Given the description of an element on the screen output the (x, y) to click on. 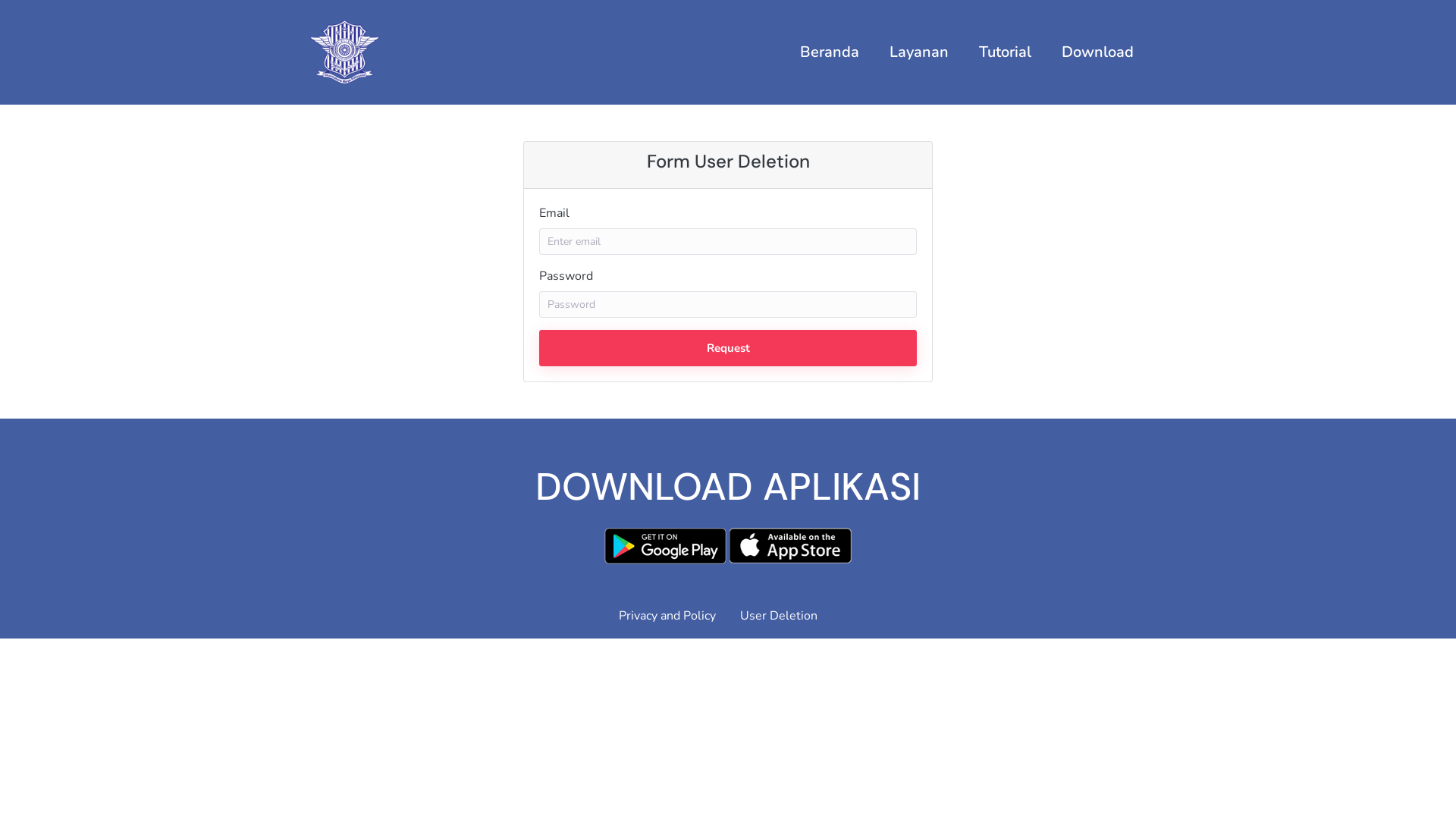
User Deletion Element type: text (830, 615)
Request Element type: text (727, 348)
Privacy and Policy Element type: text (625, 615)
Tutorial Element type: text (1005, 51)
Beranda Element type: text (829, 51)
Download Element type: text (1097, 51)
Layanan Element type: text (918, 51)
